Given the description of an element on the screen output the (x, y) to click on. 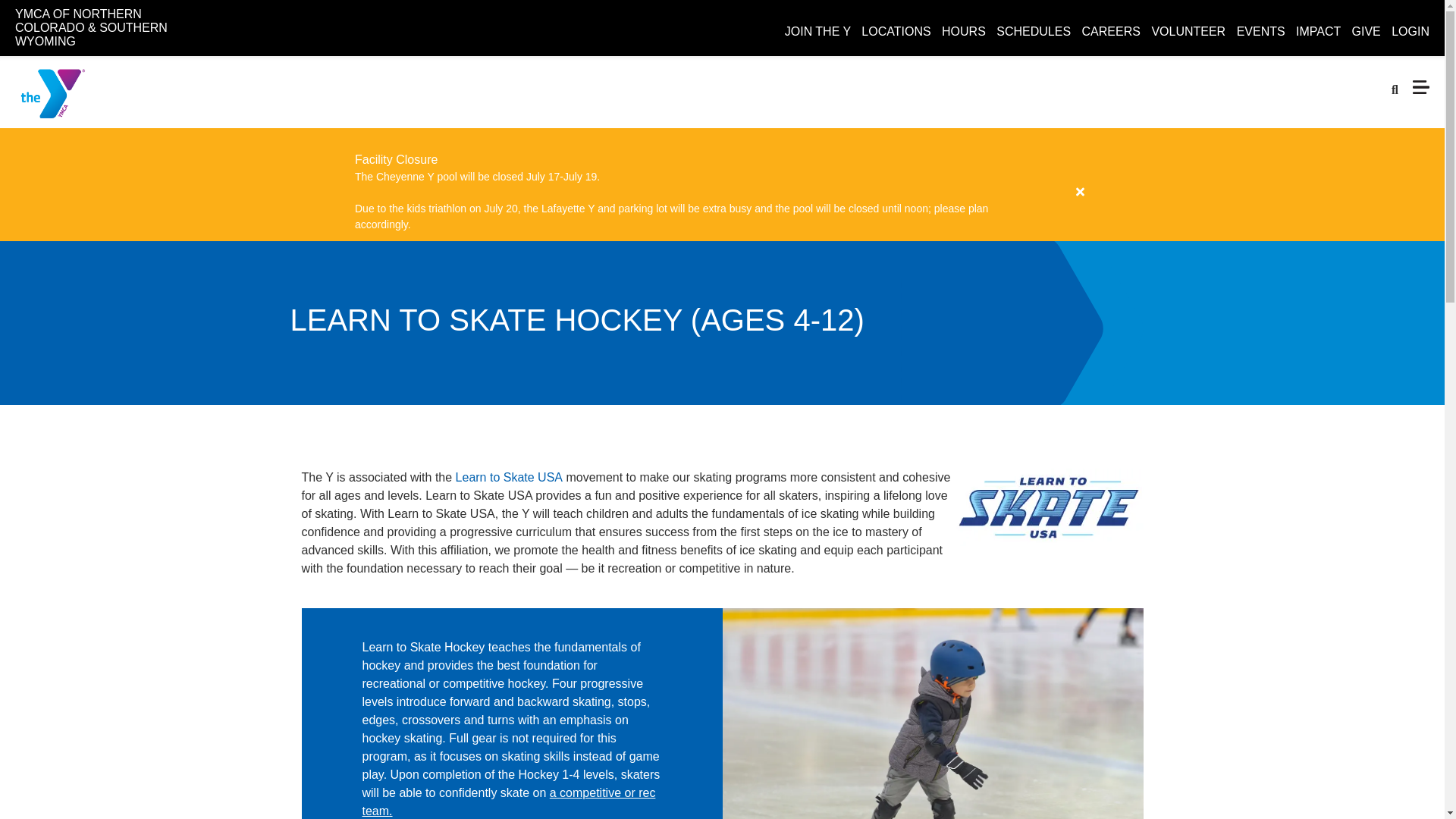
SCHEDULES (1032, 31)
EVENTS (1260, 31)
JOIN THE Y (817, 31)
CAREERS (1110, 31)
GIVE (1366, 31)
LOGIN (1410, 31)
IMPACT (1317, 31)
LOCATIONS (895, 31)
VOLUNTEER (1188, 31)
HOURS (963, 31)
